Given the description of an element on the screen output the (x, y) to click on. 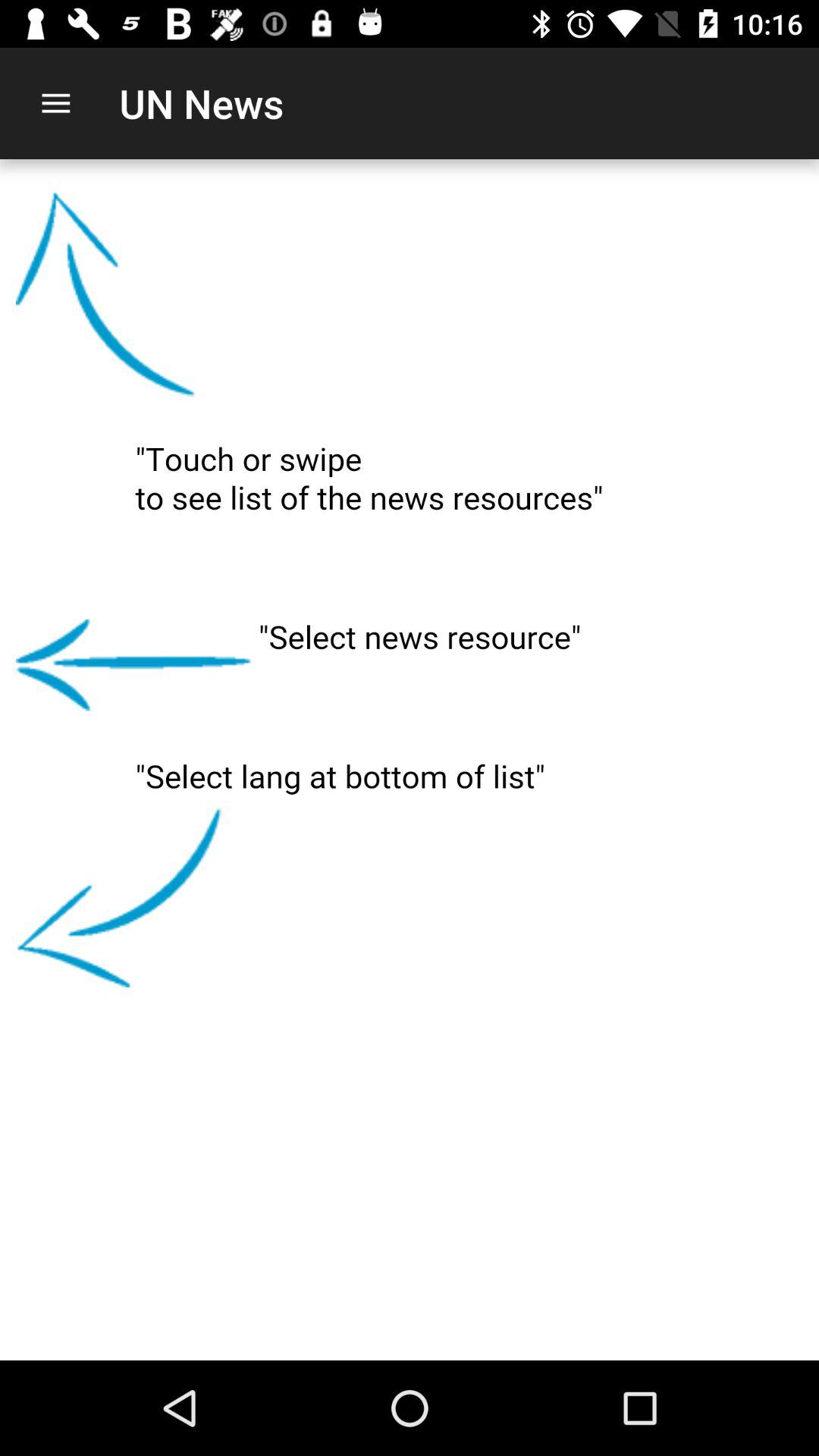
swiping left up or down for an action (409, 759)
